Given the description of an element on the screen output the (x, y) to click on. 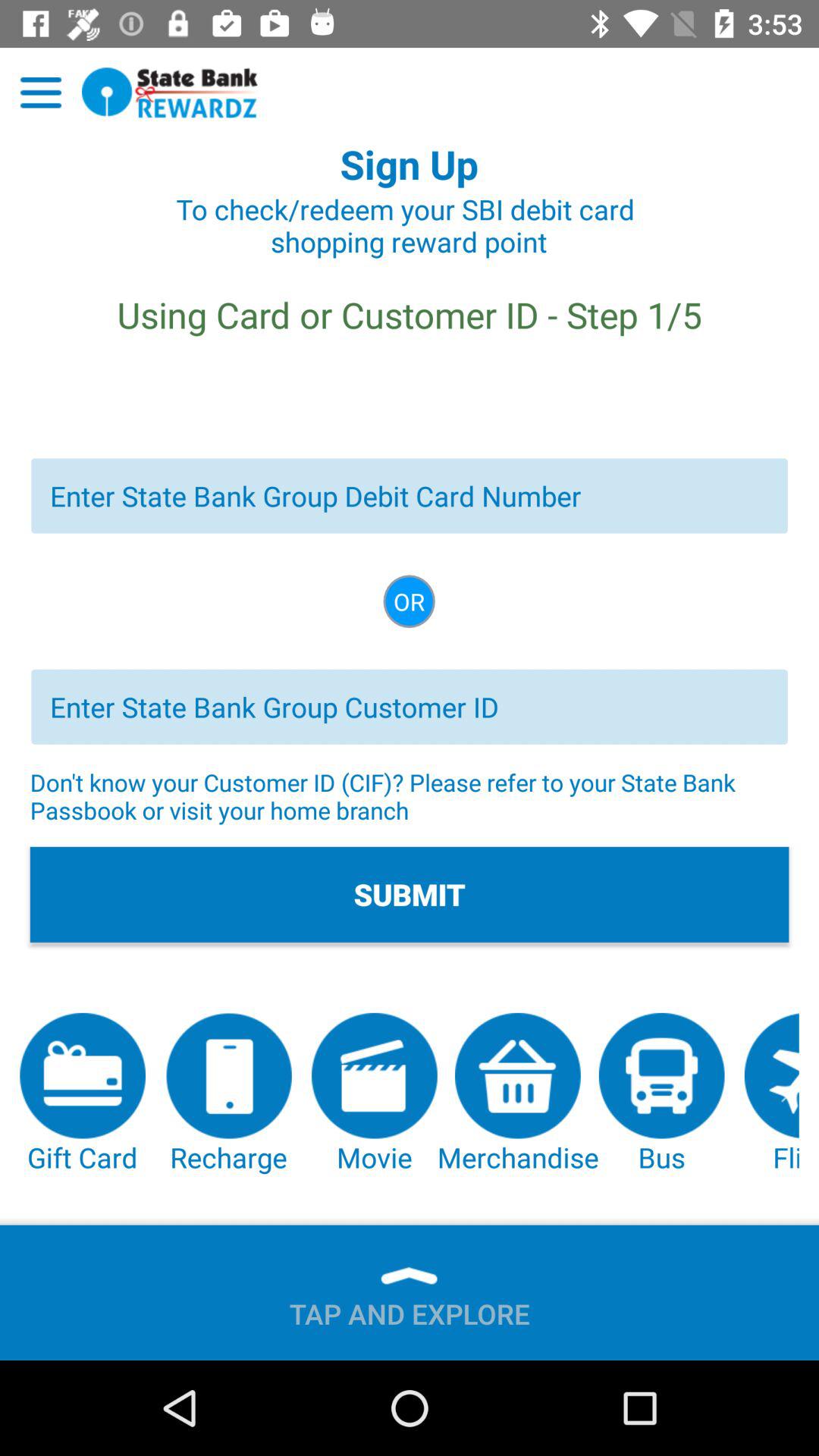
enter information (409, 706)
